Given the description of an element on the screen output the (x, y) to click on. 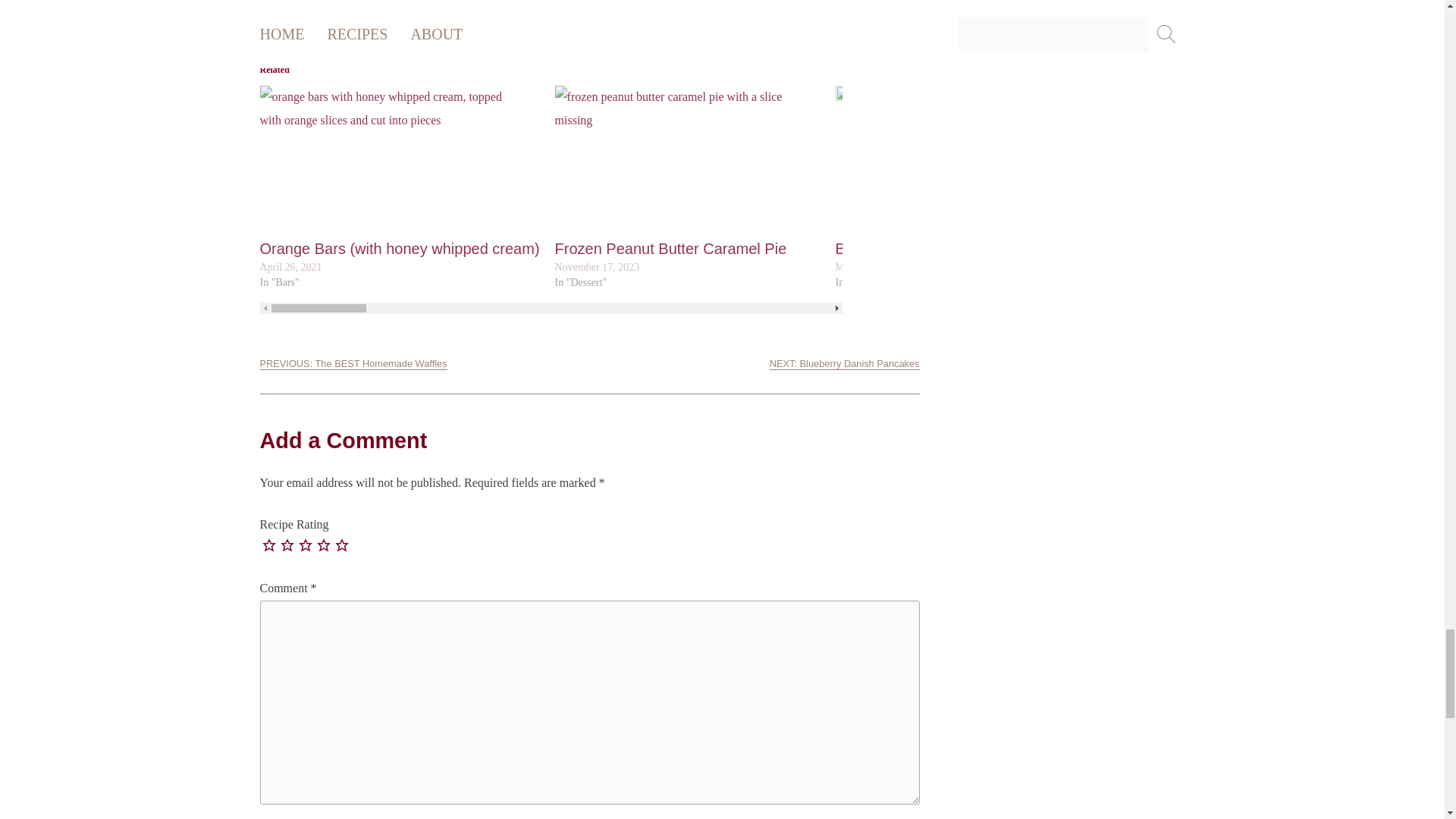
Frozen Peanut Butter Caramel Pie (670, 248)
Banoffee Pie Cookies (908, 248)
Quick and Easy Lemon Bars (1211, 248)
Banoffee Pie Cookies (908, 248)
Quick and Easy Lemon Bars (1211, 248)
Frozen Peanut Butter Caramel Pie (670, 248)
Frozen Peanut Butter Caramel Pie (687, 161)
Banoffee Pie Cookies (967, 161)
Quick and Easy Lemon Bars (1248, 161)
